Given the description of an element on the screen output the (x, y) to click on. 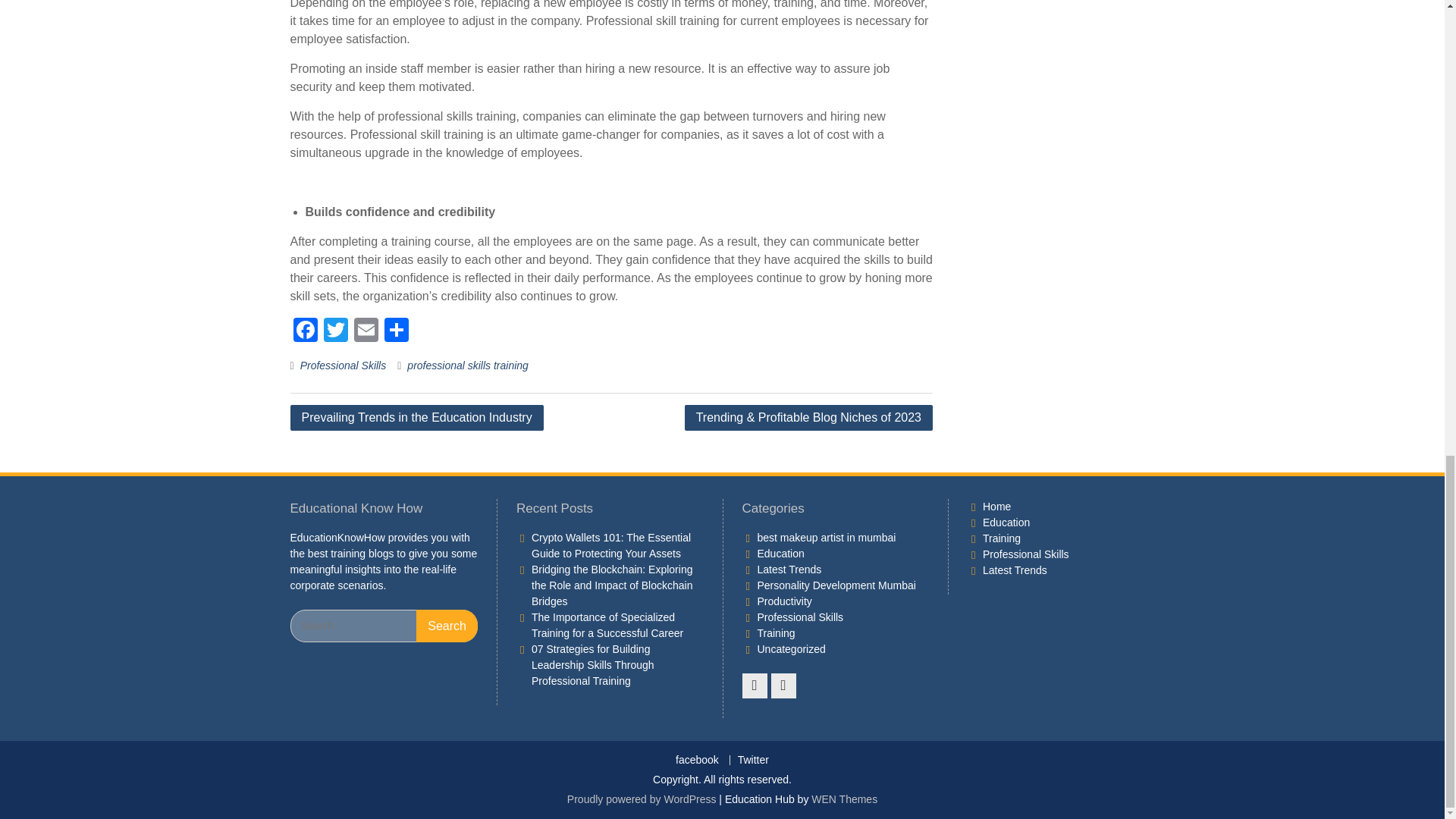
Uncategorized blogs (791, 648)
Search (446, 625)
Training (775, 633)
professional skills training (467, 365)
Twitter (335, 331)
best makeup artist in mumbai (826, 537)
Best makeup artist (826, 537)
Personality Development Mumbai (836, 585)
Personality Development in Mumbai (836, 585)
